Given the description of an element on the screen output the (x, y) to click on. 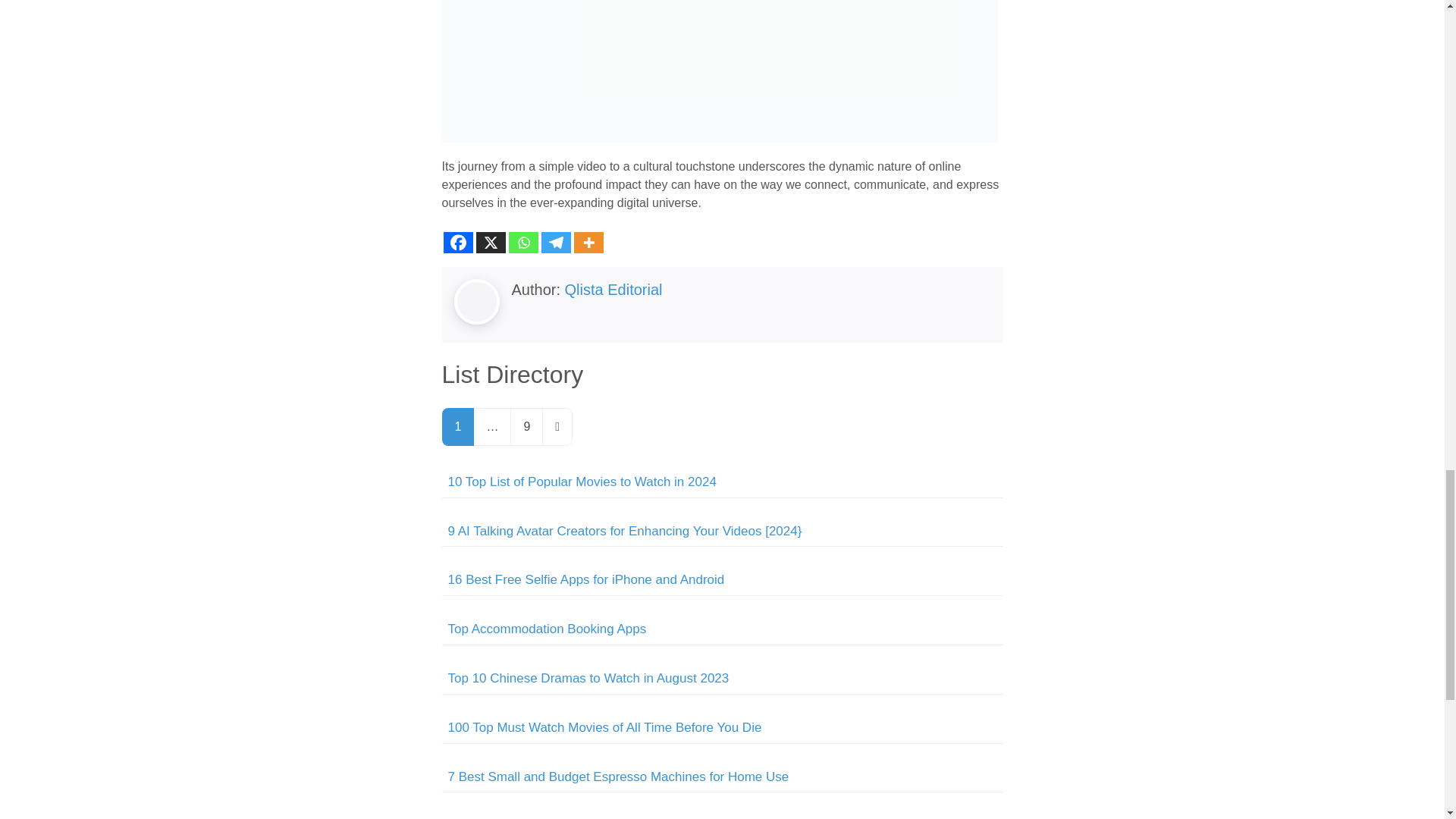
X (490, 242)
More (587, 242)
Whatsapp (522, 242)
Telegram (555, 242)
Facebook (456, 242)
